Given the description of an element on the screen output the (x, y) to click on. 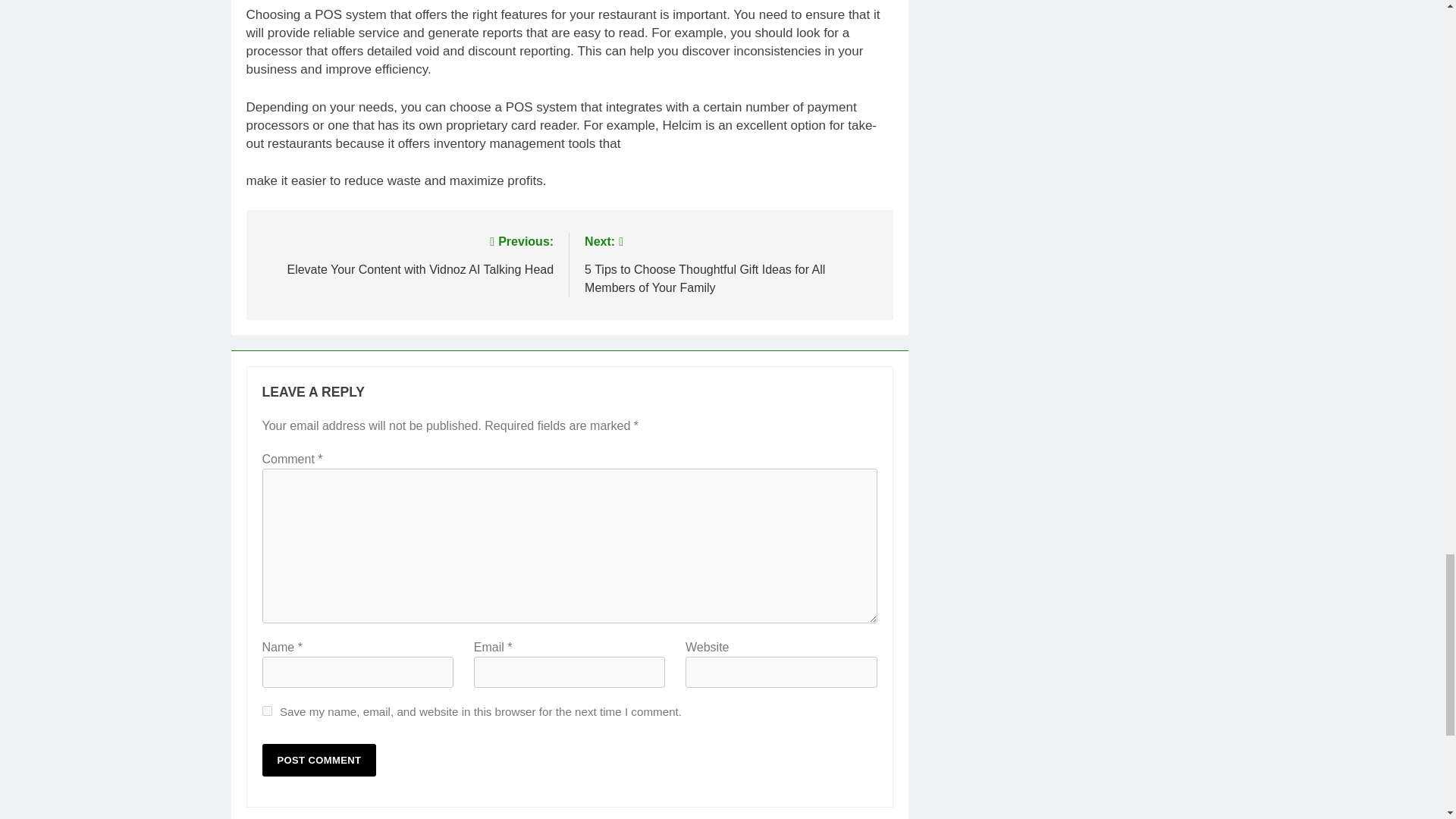
yes (267, 710)
Post Comment (319, 759)
